Given the description of an element on the screen output the (x, y) to click on. 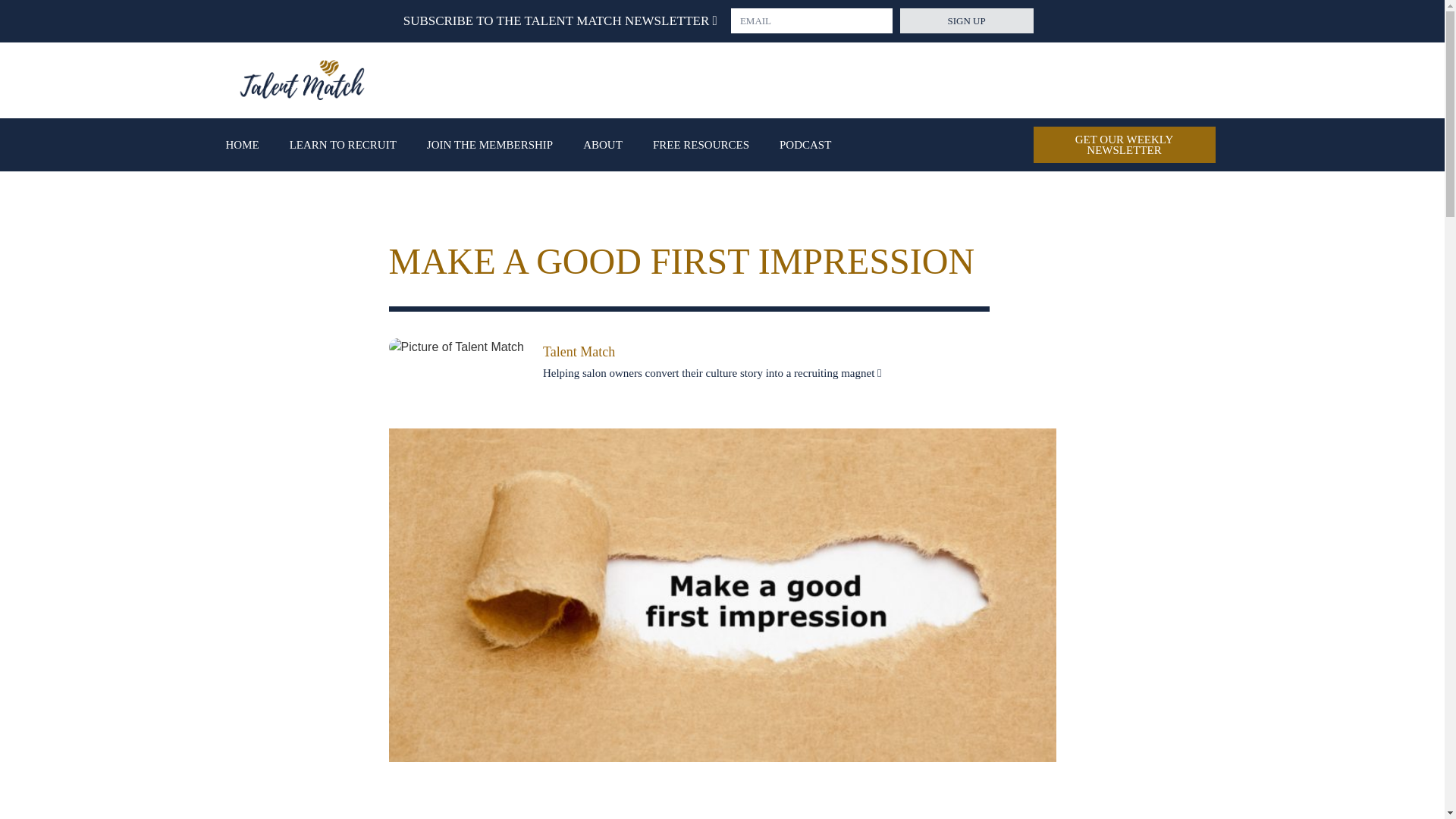
JOIN THE MEMBERSHIP (489, 144)
PODCAST (804, 144)
SIGN UP (966, 20)
FREE RESOURCES (700, 144)
ABOUT (602, 144)
LEARN TO RECRUIT (343, 144)
HOME (243, 144)
